Given the description of an element on the screen output the (x, y) to click on. 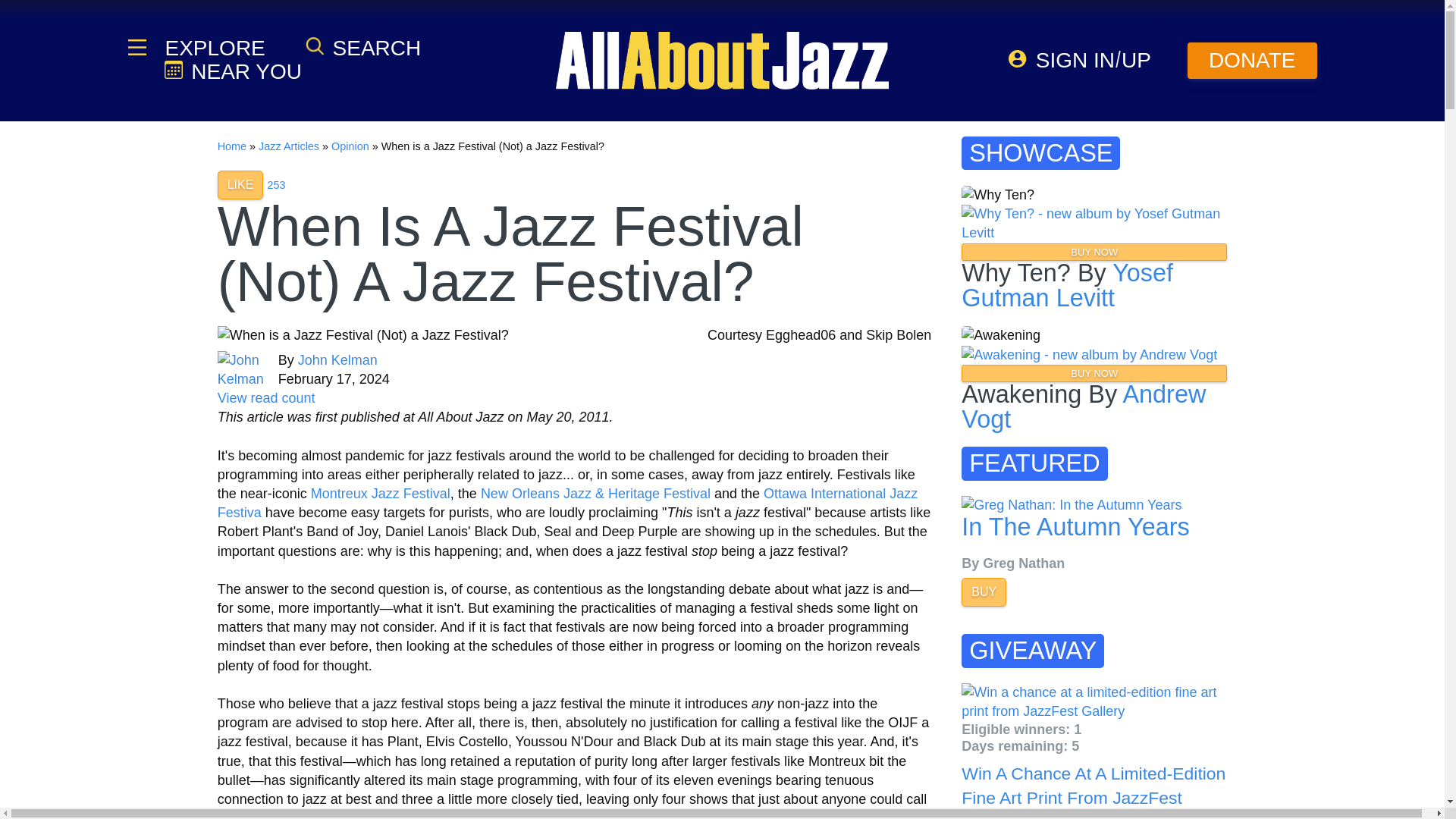
John Kelman (337, 359)
Top recommended jazz articles (275, 184)
Support All About Jazz and go ad-free! (1252, 60)
Montreux Jazz Festival (380, 493)
View read count (265, 397)
NEAR YOU (232, 71)
Click Here to Return to the All About Jazz Home Page (231, 146)
Jazz Concerts Near You (232, 71)
253 (275, 184)
Search All About Jazz and find happiness (362, 47)
Welcome to All About Jazz! (722, 59)
Jazz Articles (288, 146)
EXPLORE (212, 47)
LIKE (239, 184)
Opinion (350, 146)
